Given the description of an element on the screen output the (x, y) to click on. 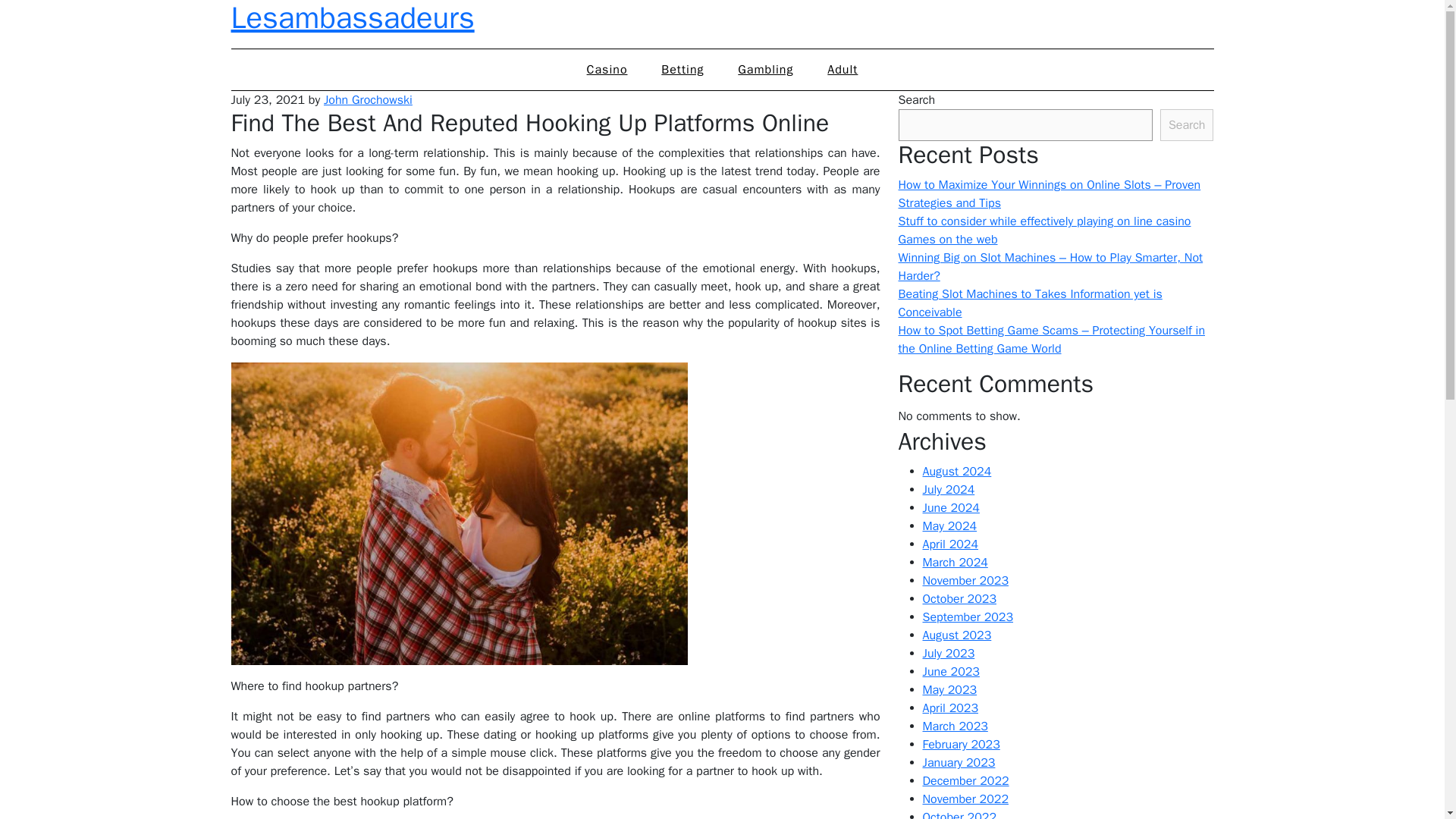
Lesambassadeurs (352, 18)
December 2022 (965, 780)
July 2024 (947, 489)
May 2023 (948, 689)
Search (1187, 124)
June 2023 (949, 671)
November 2023 (964, 580)
Gambling (765, 69)
April 2023 (949, 708)
Betting (682, 69)
